Given the description of an element on the screen output the (x, y) to click on. 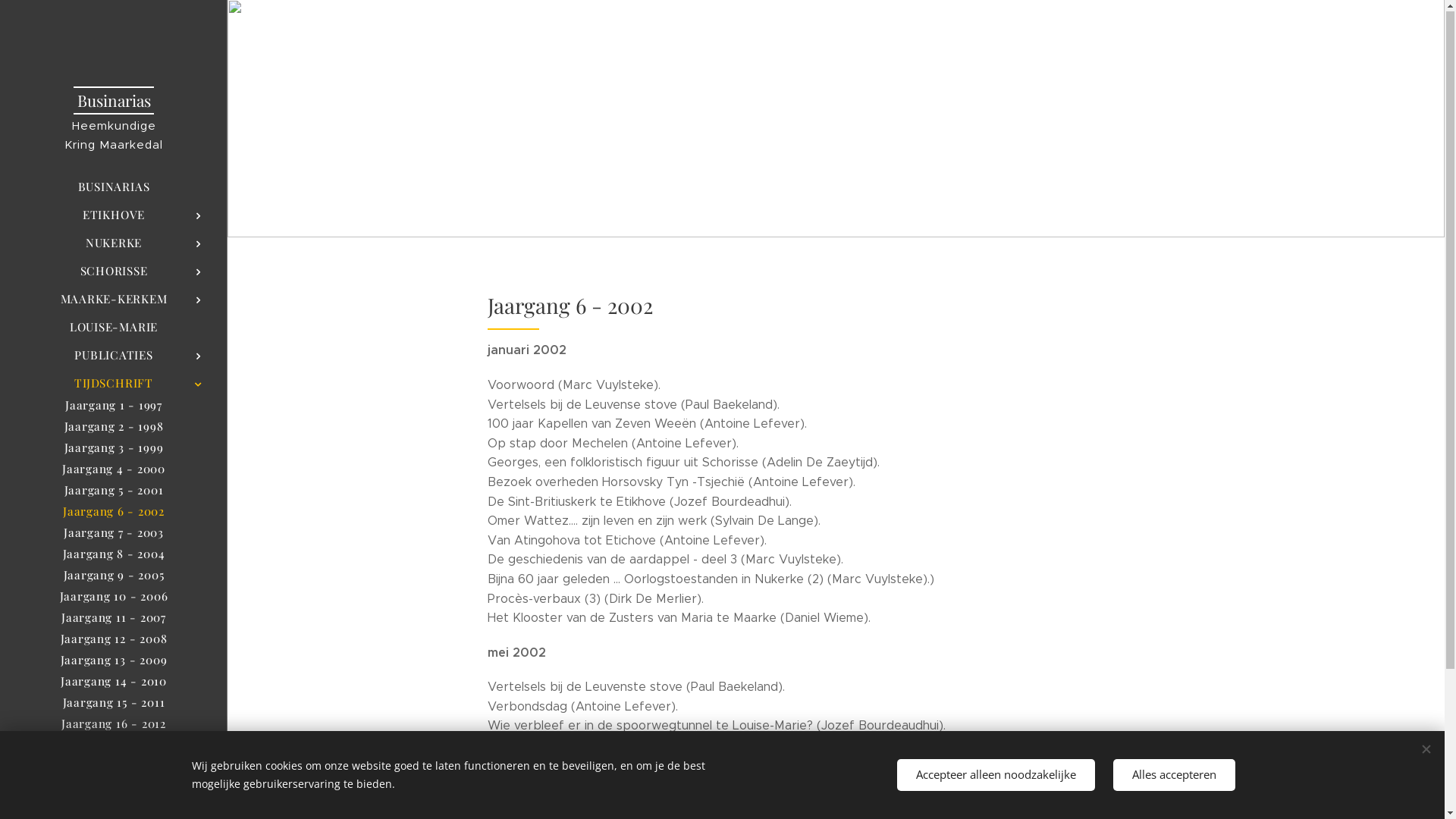
Jaargang 8 - 2004 Element type: text (113, 554)
Jaargang 7 - 2003 Element type: text (113, 532)
Jaargang 3 - 1999 Element type: text (113, 448)
Jaargang 14 - 2010 Element type: text (113, 681)
Cookies Element type: text (113, 796)
Jaargang 6 - 2002 Element type: text (113, 511)
Jaargang 1 - 1997 Element type: text (113, 405)
Jaargang 5 - 2001 Element type: text (113, 490)
Alles accepteren Element type: text (1174, 774)
Webnode Element type: text (174, 774)
Jaargang 10 - 2006 Element type: text (113, 596)
MAARKE-KERKEM Element type: text (113, 299)
PUBLICATIES Element type: text (113, 355)
Businarias Element type: text (113, 73)
SCHORISSE Element type: text (113, 271)
ETIKHOVE Element type: text (113, 215)
Jaargang 2 - 1998 Element type: text (113, 426)
NUKERKE Element type: text (113, 243)
Jaargang 13 - 2009 Element type: text (113, 660)
Jaargang 4 - 2000 Element type: text (113, 469)
Accepteer alleen noodzakelijke Element type: text (995, 774)
TIJDSCHRIFT Element type: text (113, 383)
Jaargang 9 - 2005 Element type: text (113, 575)
Jaargang 12 - 2008 Element type: text (113, 639)
BUSINARIAS Element type: text (113, 187)
LOUISE-MARIE Element type: text (113, 327)
Jaargang 16 - 2012 Element type: text (113, 724)
Jaargang 15 - 2011 Element type: text (113, 702)
Jaargang 11 - 2007 Element type: text (113, 617)
